Given the description of an element on the screen output the (x, y) to click on. 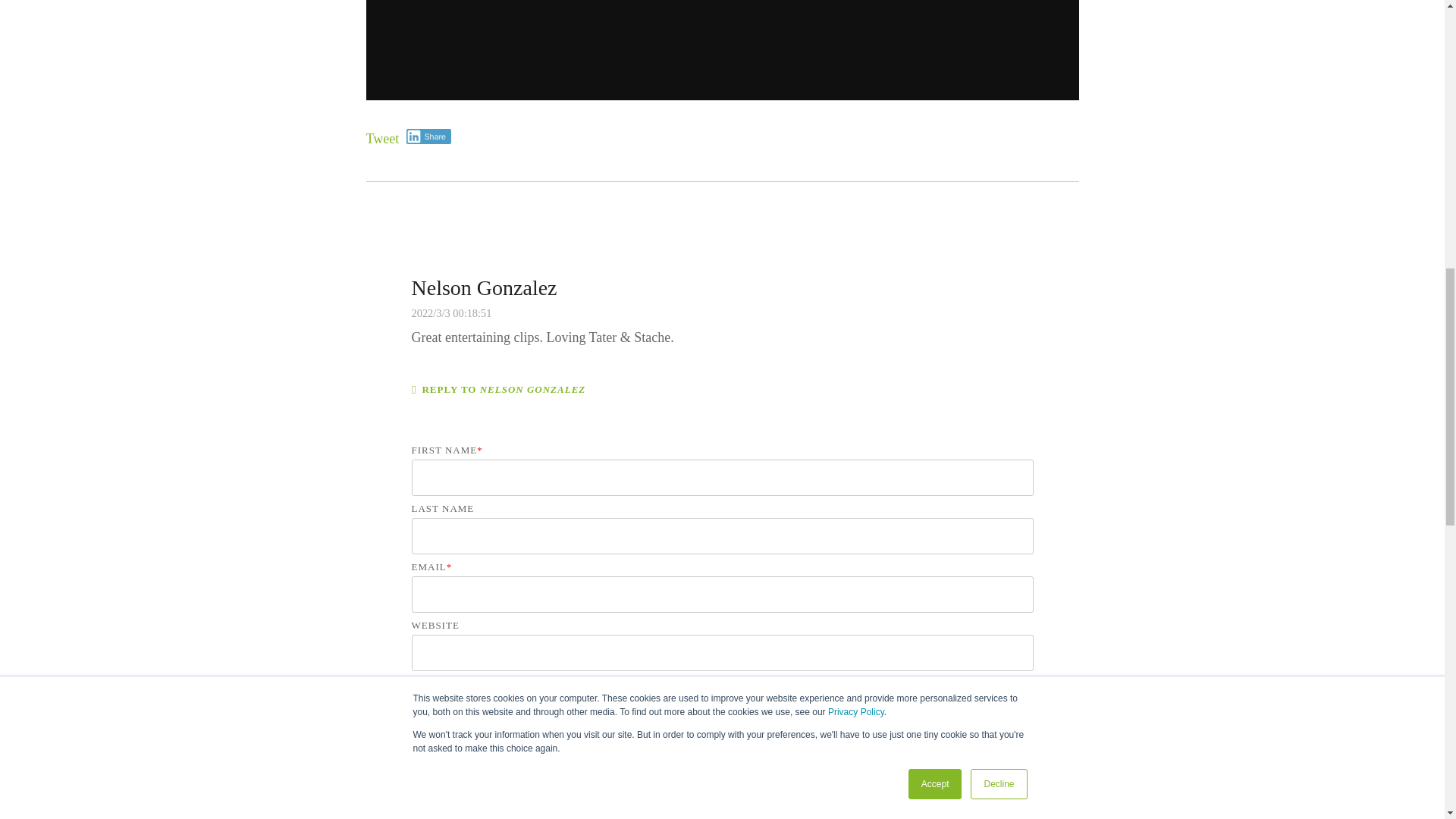
HubSpot Video (721, 49)
